Given the description of an element on the screen output the (x, y) to click on. 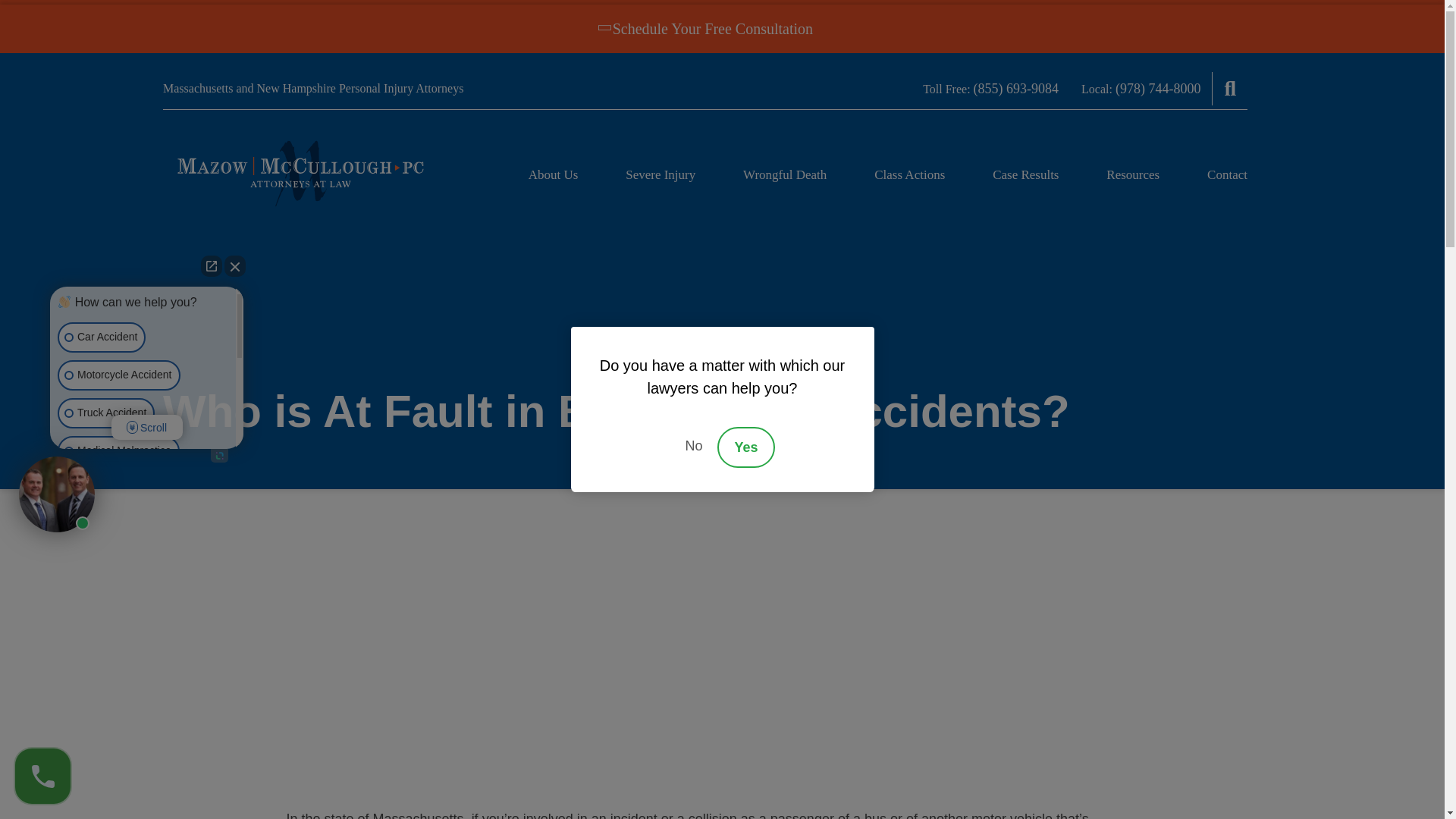
Severe Injury (660, 175)
About Us (553, 175)
